Given the description of an element on the screen output the (x, y) to click on. 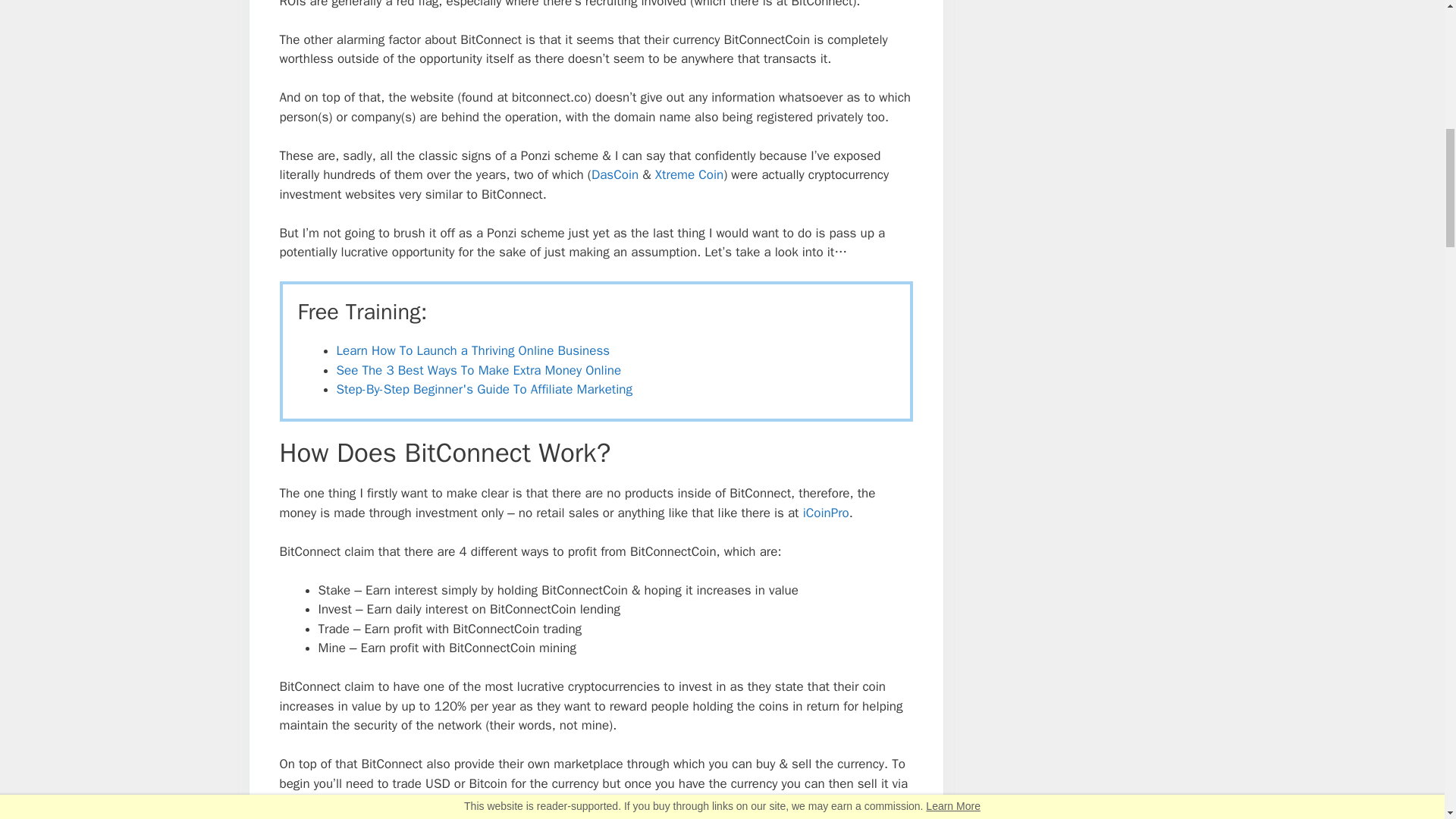
Xtreme Coin (689, 174)
DasCoin (615, 174)
Learn How To Launch a Thriving Online Business (473, 350)
Step-By-Step Beginner's Guide To Affiliate Marketing (483, 389)
iCoinPro (825, 512)
See The 3 Best Ways To Make Extra Money Online (478, 370)
